Given the description of an element on the screen output the (x, y) to click on. 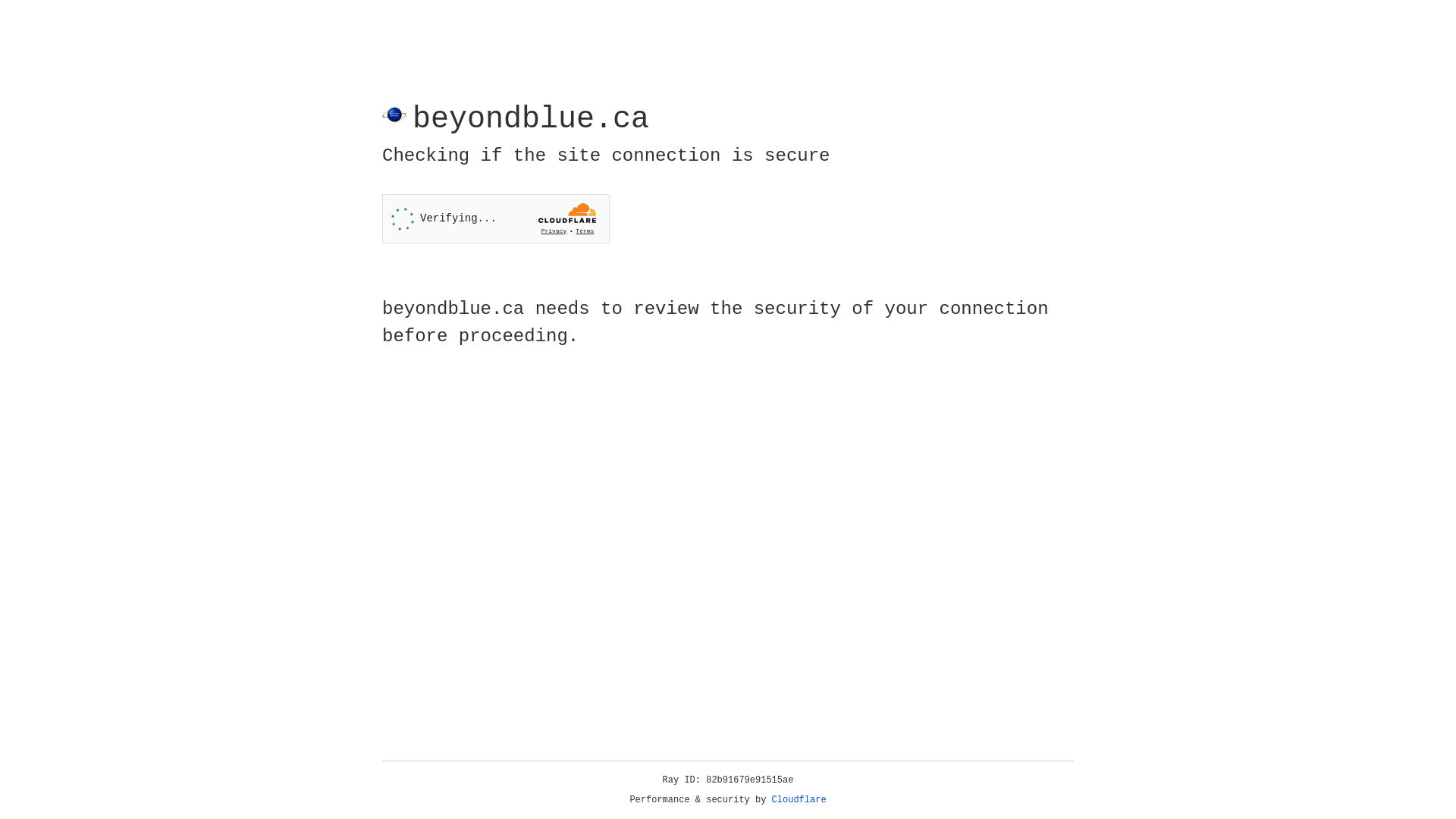
Widget containing a Cloudflare security challenge Element type: hover (495, 218)
Cloudflare Element type: text (798, 799)
